Given the description of an element on the screen output the (x, y) to click on. 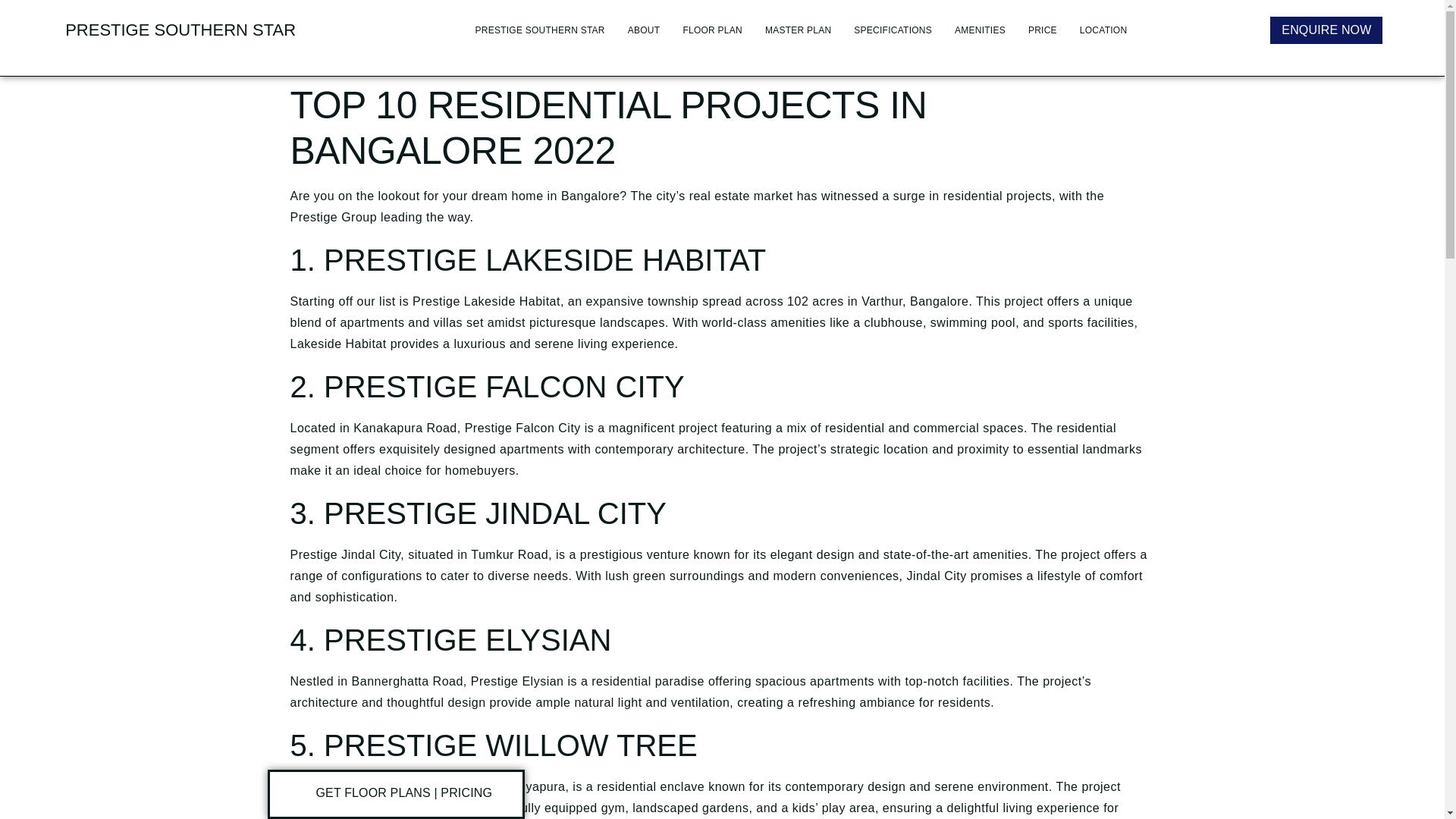
MASTER PLAN (786, 10)
PRESTIGE SOUTHERN STAR (180, 29)
PRICE (1031, 16)
SPECIFICATIONS (881, 14)
AMENITIES (968, 15)
FLOOR PLAN (700, 9)
ENQUIRE NOW (1325, 30)
PRESTIGE SOUTHERN STAR (527, 5)
ABOUT (633, 7)
LOCATION (1091, 18)
